Given the description of an element on the screen output the (x, y) to click on. 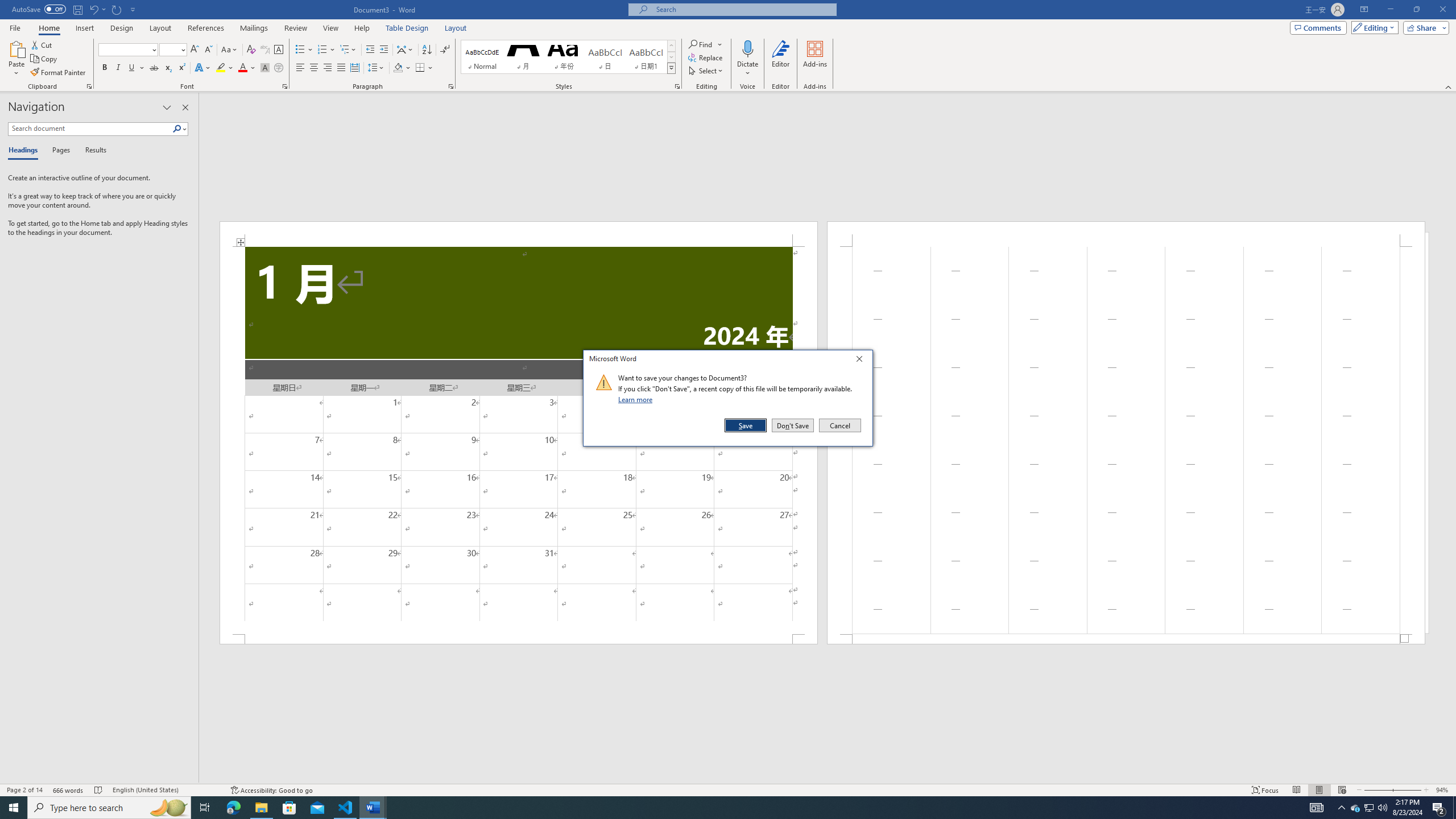
Quick Access Toolbar (74, 9)
Class: NetUIScrollBar (827, 778)
Text Highlight Color (224, 67)
Repeat Style (117, 9)
Cancel (839, 425)
Review (295, 28)
Read Mode (1296, 790)
Microsoft search (742, 9)
Microsoft Store (1368, 807)
File Tab (289, 807)
Select (15, 27)
